Given the description of an element on the screen output the (x, y) to click on. 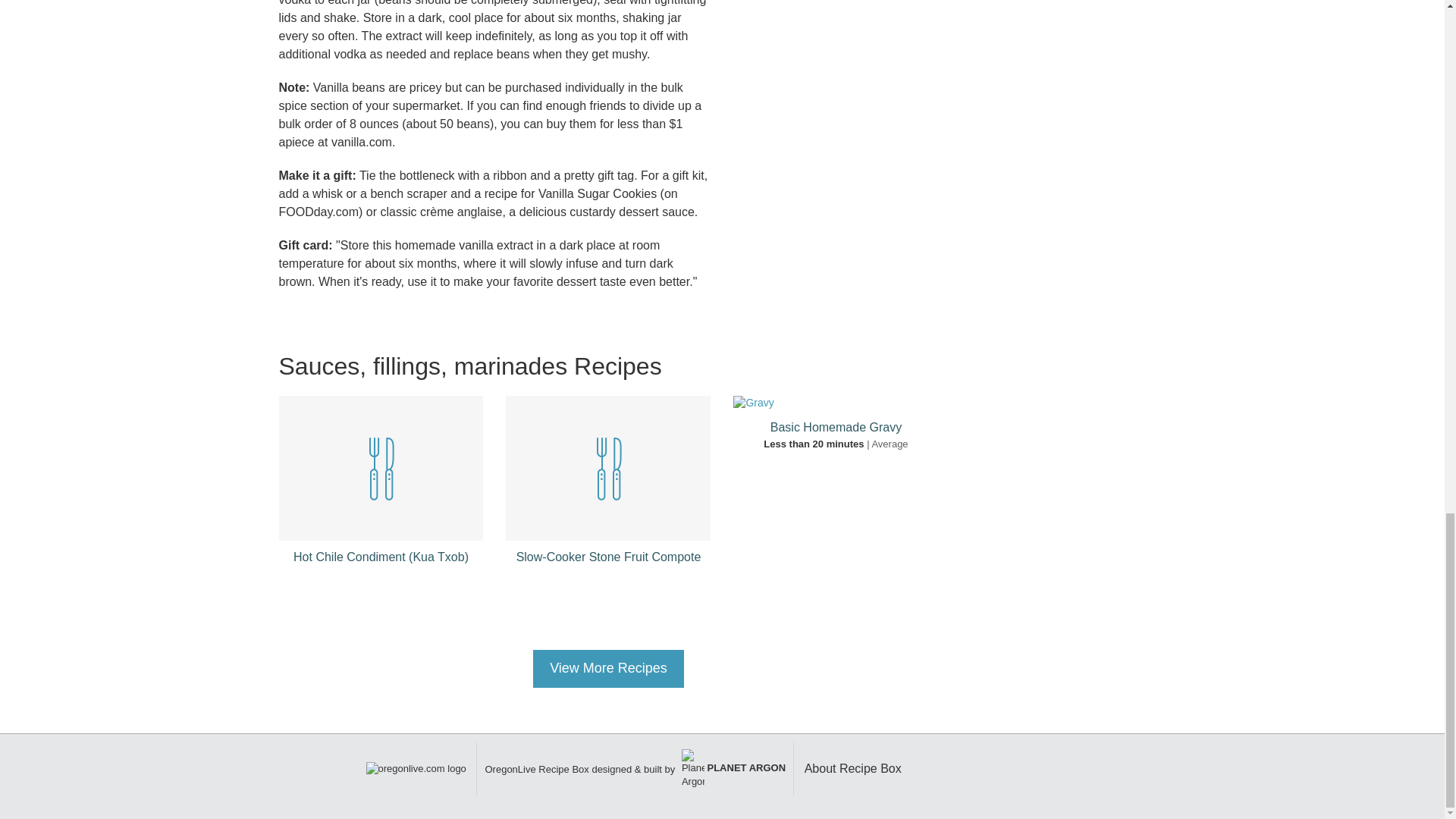
View More Recipes (608, 668)
Slow-Cooker Stone Fruit Compote (608, 556)
About Recipe Box (853, 768)
Basic Homemade Gravy (835, 427)
PLANET ARGON (732, 767)
